Given the description of an element on the screen output the (x, y) to click on. 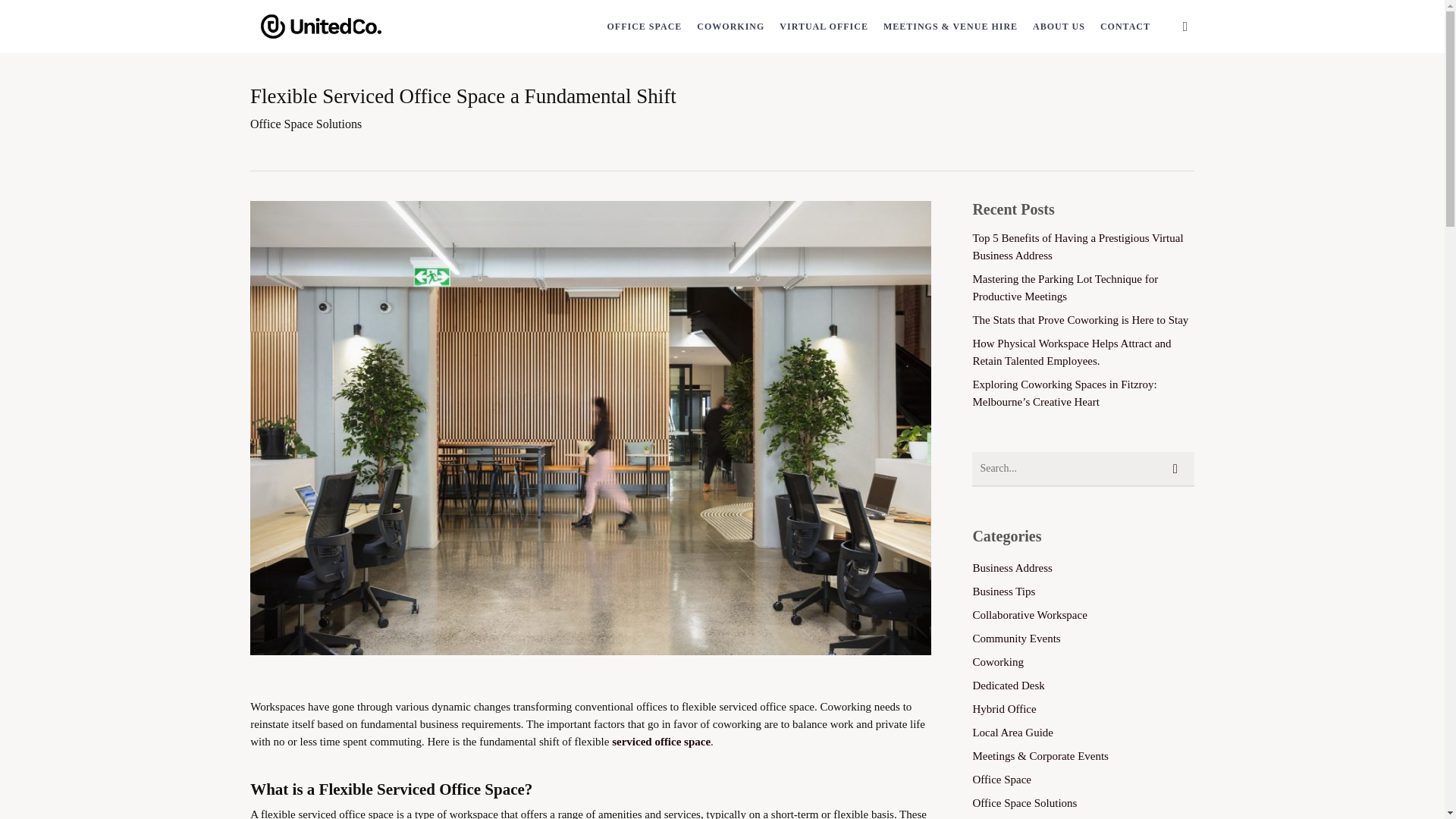
VIRTUAL OFFICE (822, 26)
OFFICE SPACE (644, 26)
Search for: (1082, 469)
ABOUT US (1058, 26)
account (1184, 26)
COWORKING (730, 26)
CONTACT (1125, 26)
